Given the description of an element on the screen output the (x, y) to click on. 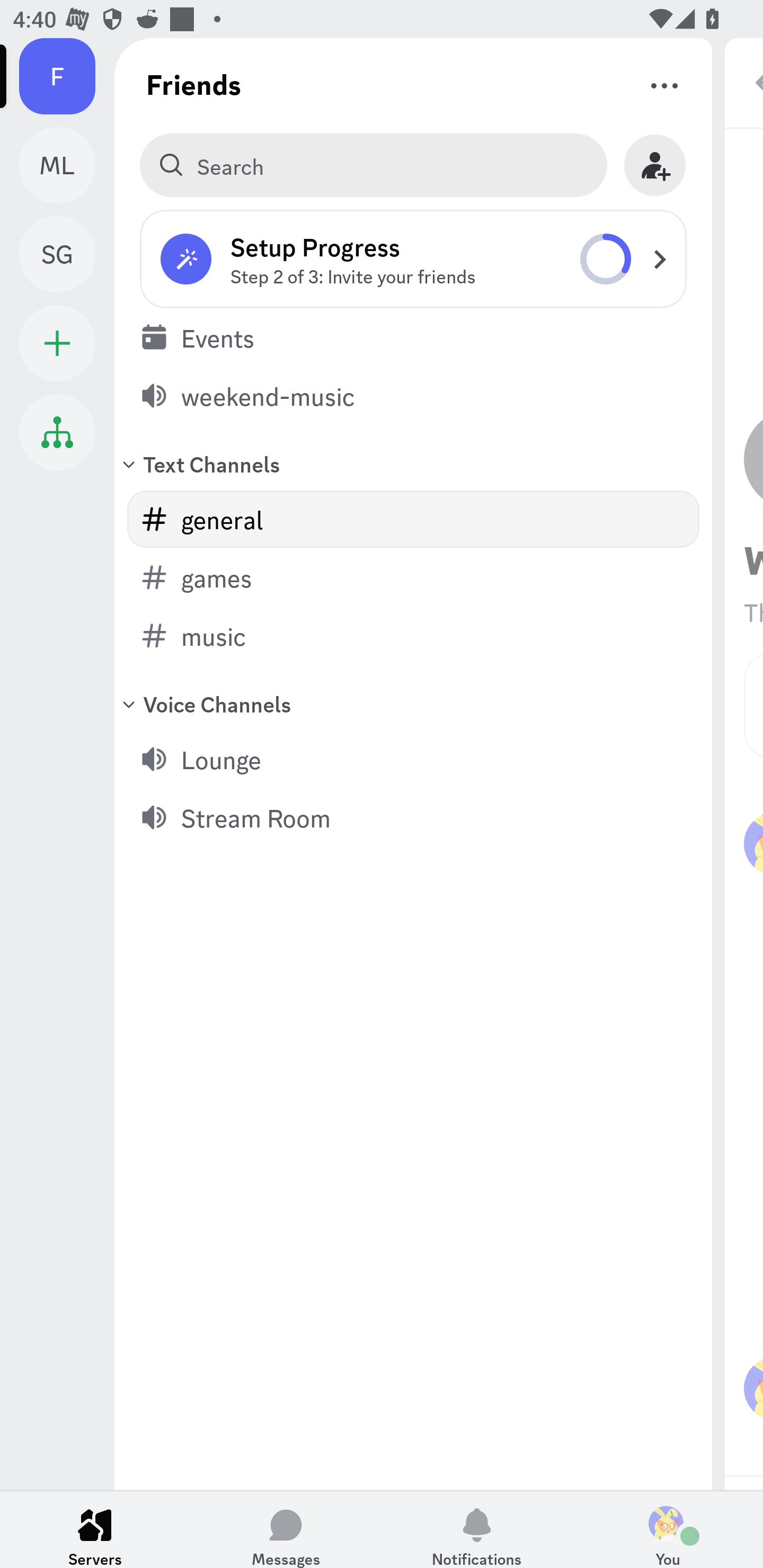
  Friends F (66, 75)
Friends (193, 83)
  Music Lovers ML (66, 165)
Search (373, 165)
Invite (654, 165)
  Study Group SG (66, 253)
Add a Server (57, 343)
Events (413, 336)
Student Hub (57, 431)
Text Channels (412, 462)
general (text channel) general (413, 518)
games (text channel) games (413, 576)
music (text channel) music (413, 635)
Voice Channels (412, 702)
Lounge (voice channel), 0 users Lounge (413, 758)
Stream Room (voice channel), 0 users Stream Room (413, 817)
Servers (95, 1529)
